Given the description of an element on the screen output the (x, y) to click on. 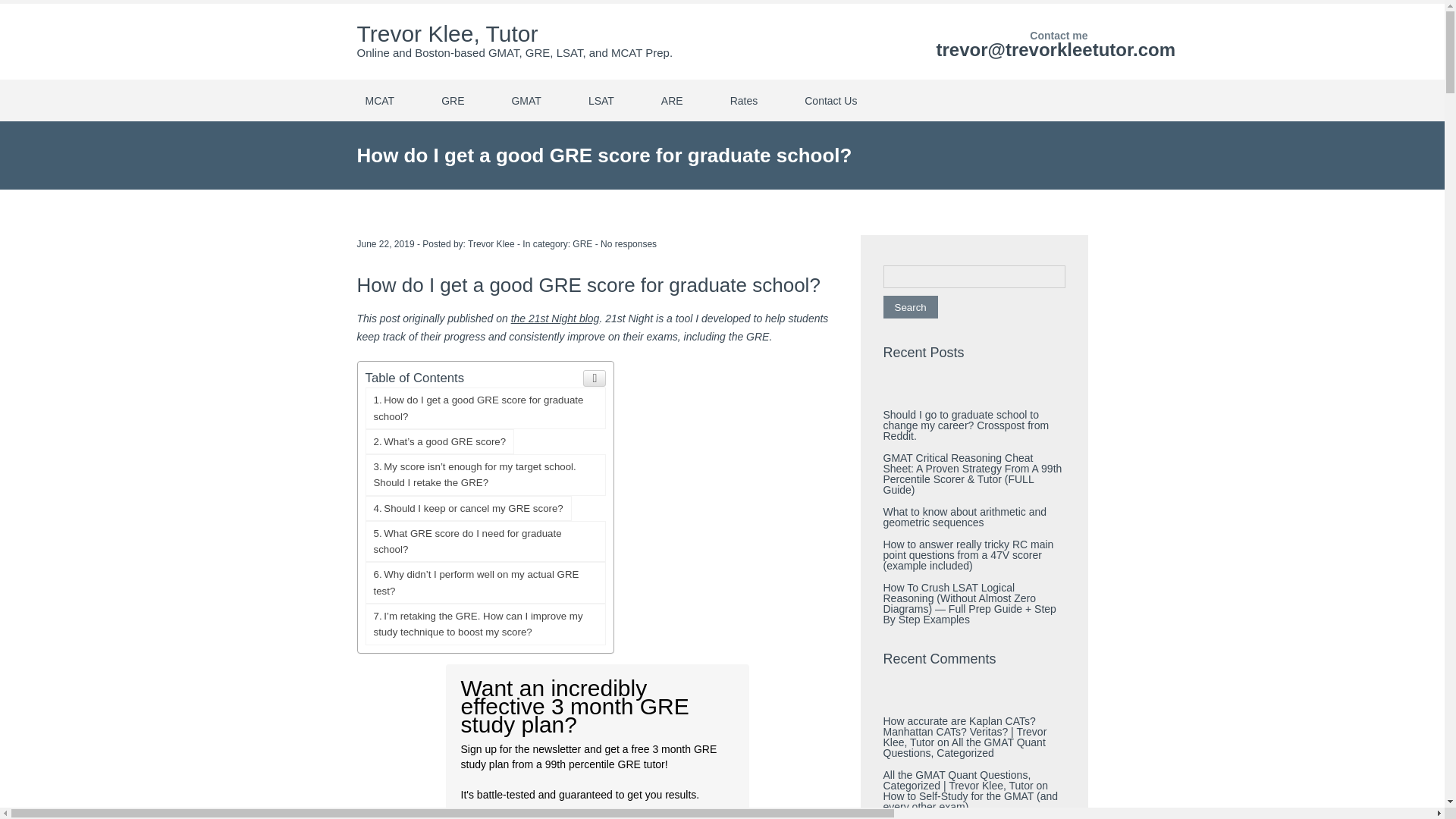
How do I get a good GRE score for graduate school? (485, 408)
GMAT (525, 100)
Posts by Trevor Klee (485, 541)
How do I get a good GRE score for graduate school? (491, 244)
GRE (485, 408)
What GRE score do I need for graduate school? (582, 244)
No responses (485, 541)
the 21st Night blog (627, 244)
Trevor Klee (555, 318)
I want this! (491, 244)
Trevor Klee, Tutor (692, 818)
Search (446, 33)
MCAT (909, 306)
ARE (379, 100)
